Given the description of an element on the screen output the (x, y) to click on. 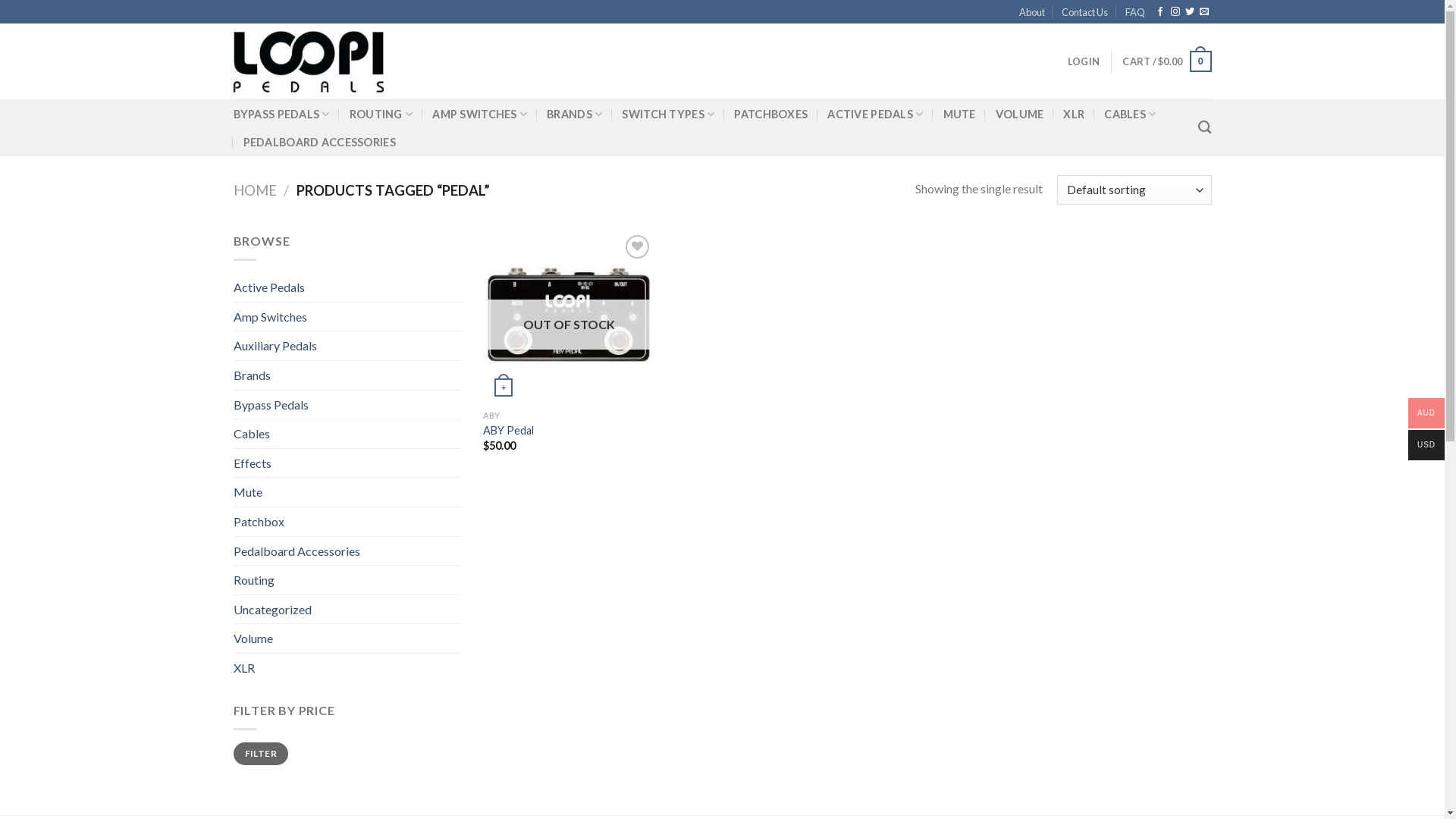
FILTER Element type: text (260, 753)
CART / $0.00
0 Element type: text (1166, 61)
MUTE Element type: text (959, 114)
Cables Element type: text (347, 433)
LOGIN Element type: text (1083, 61)
XLR Element type: text (347, 667)
CABLES Element type: text (1129, 113)
Bypass Pedals Element type: text (347, 404)
Loopi Pedals Element type: hover (308, 61)
PEDALBOARD ACCESSORIES Element type: text (318, 142)
Pedalboard Accessories Element type: text (347, 550)
SWITCH TYPES Element type: text (667, 113)
HOME Element type: text (254, 190)
ACTIVE PEDALS Element type: text (874, 113)
Auxiliary Pedals Element type: text (347, 345)
Follow on Twitter Element type: hover (1189, 11)
ABY Pedal Element type: text (508, 430)
Effects Element type: text (347, 462)
Routing Element type: text (347, 579)
FAQ Element type: text (1135, 11)
Uncategorized Element type: text (347, 609)
Patchbox Element type: text (347, 521)
XLR Element type: text (1073, 114)
Follow on Facebook Element type: hover (1159, 11)
Send us an email Element type: hover (1203, 11)
AMP SWITCHES Element type: text (479, 113)
About Element type: text (1031, 11)
Mute Element type: text (347, 491)
BYPASS PEDALS Element type: text (281, 113)
Brands Element type: text (347, 374)
Contact Us Element type: text (1084, 11)
PATCHBOXES Element type: text (770, 114)
ROUTING Element type: text (381, 113)
VOLUME Element type: text (1019, 114)
Amp Switches Element type: text (347, 316)
Volume Element type: text (347, 638)
Follow on Instagram Element type: hover (1174, 11)
BRANDS Element type: text (574, 113)
Active Pedals Element type: text (347, 287)
